Given the description of an element on the screen output the (x, y) to click on. 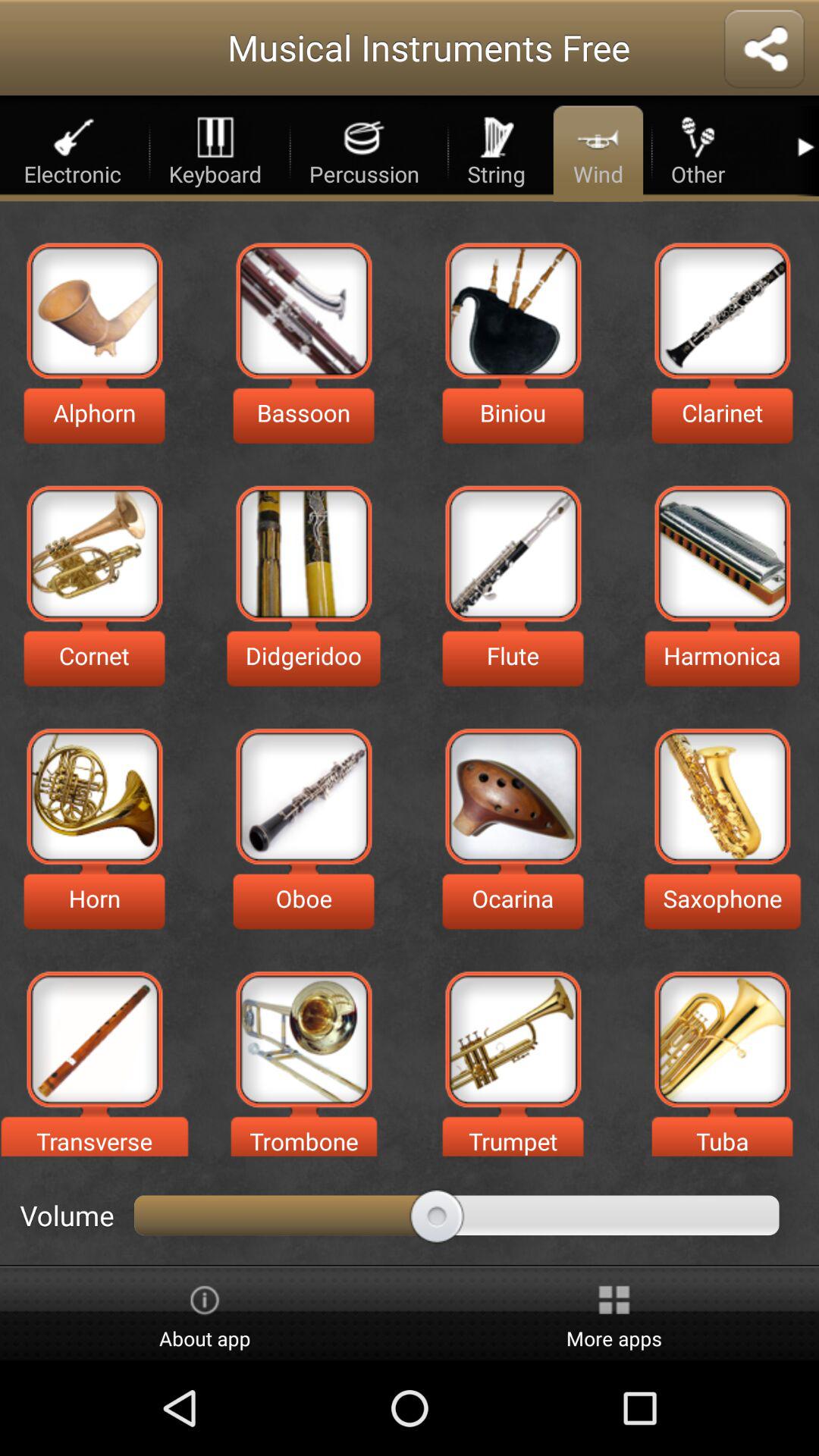
play trombone (303, 1039)
